Given the description of an element on the screen output the (x, y) to click on. 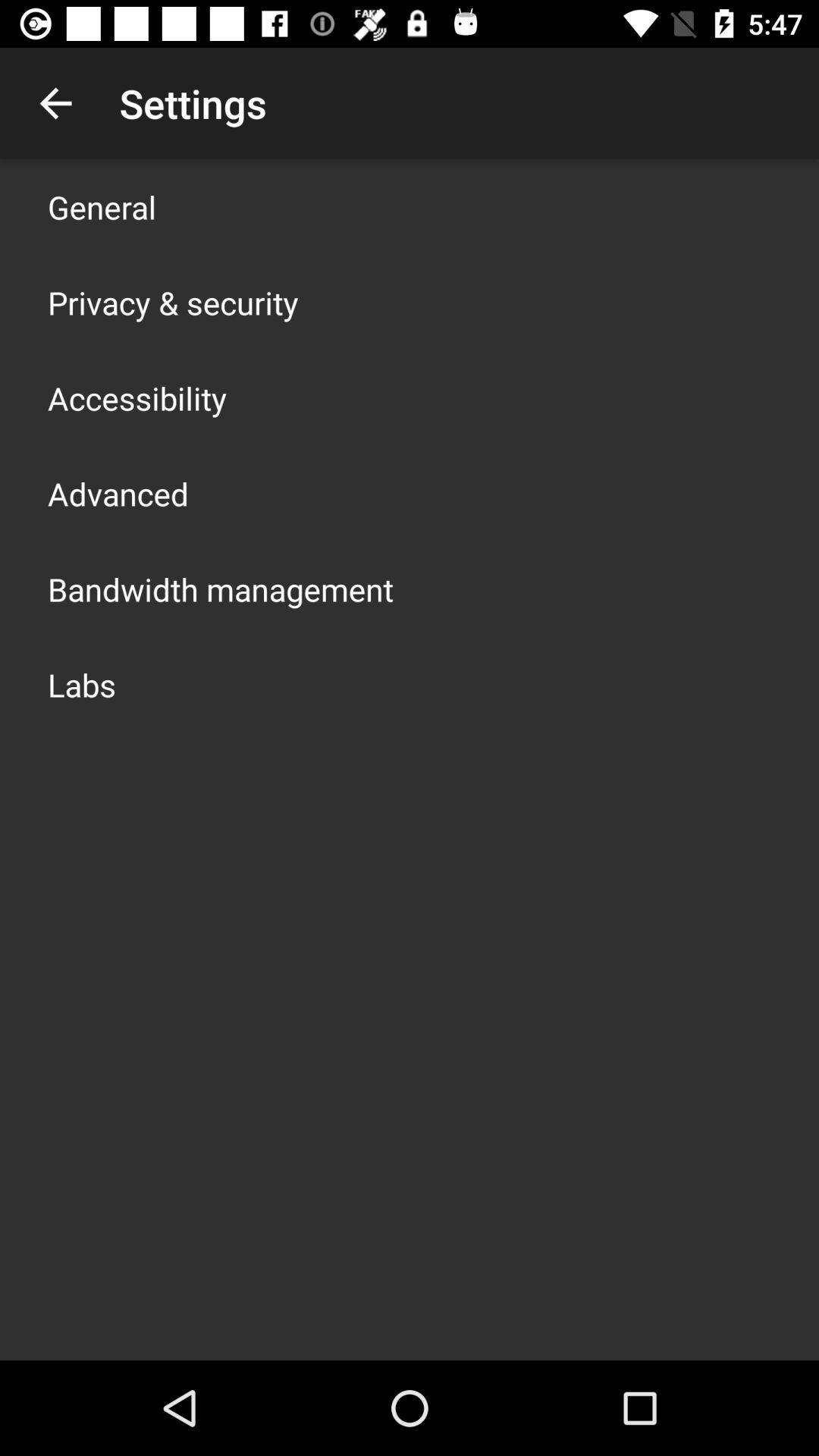
turn off labs icon (81, 684)
